Given the description of an element on the screen output the (x, y) to click on. 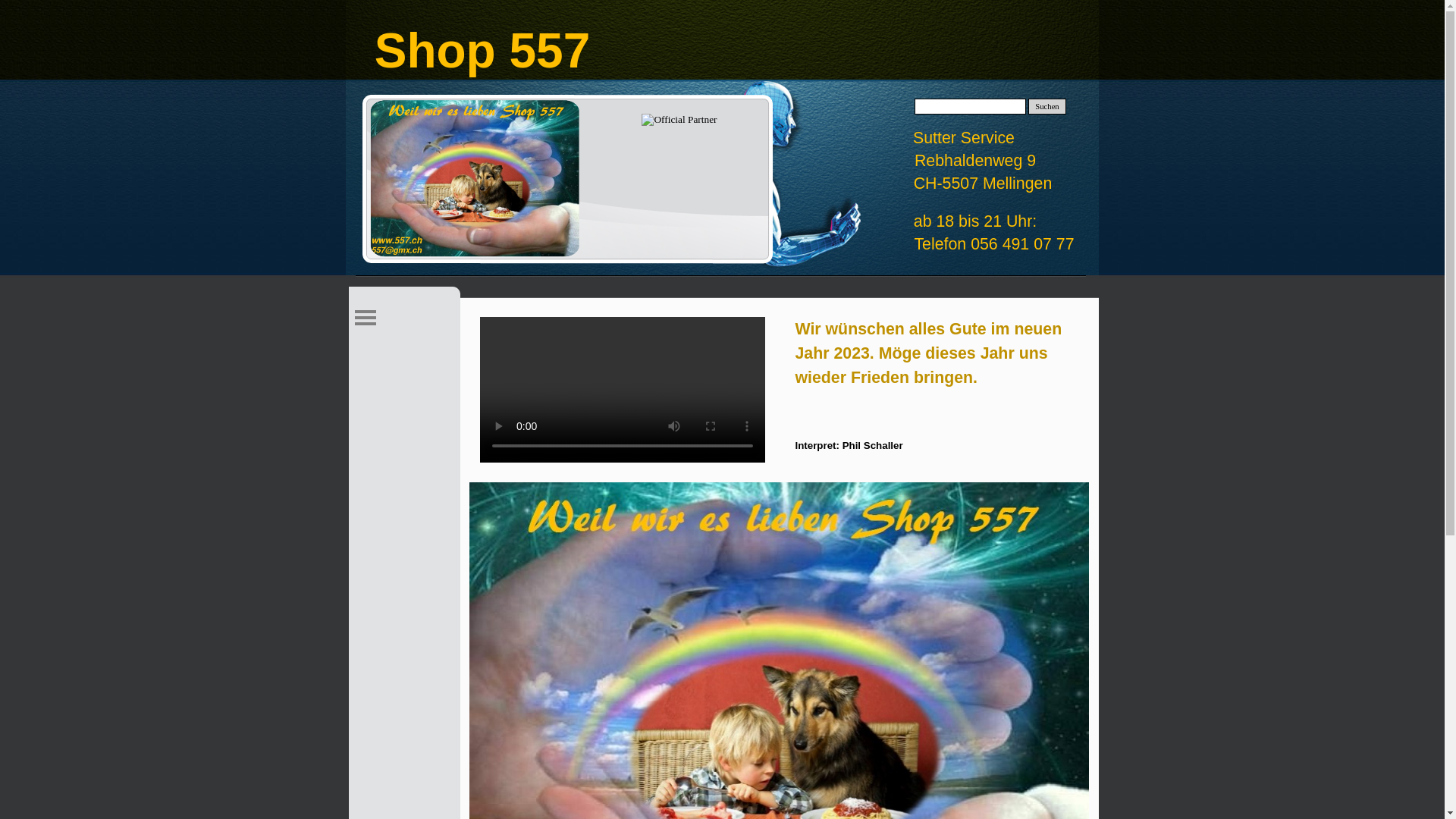
Suchen Element type: text (1047, 106)
Official Partner Element type: hover (678, 119)
Shop 557 Element type: hover (474, 177)
